Given the description of an element on the screen output the (x, y) to click on. 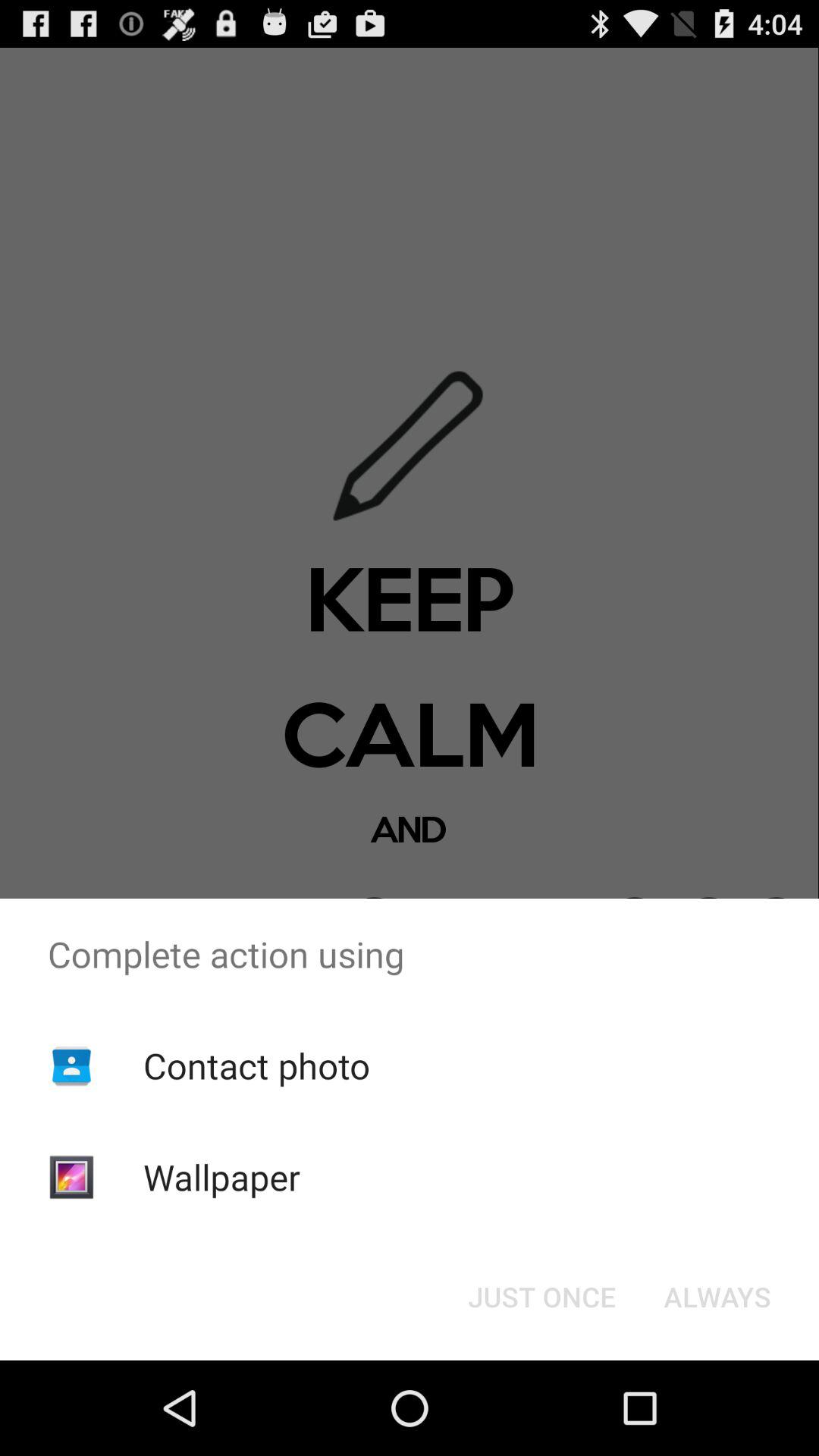
launch item above the wallpaper item (256, 1065)
